Given the description of an element on the screen output the (x, y) to click on. 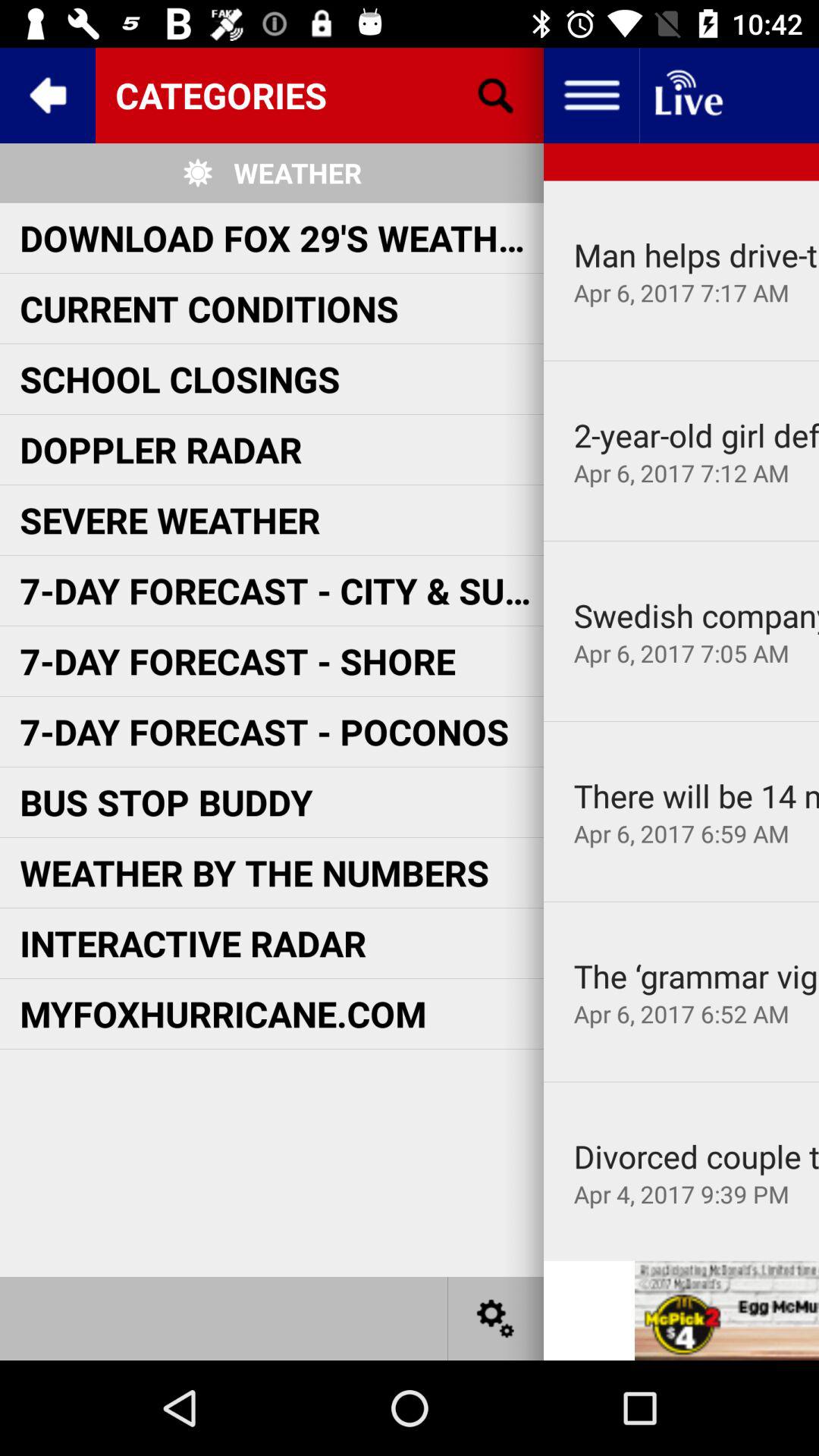
expand options (591, 95)
